Given the description of an element on the screen output the (x, y) to click on. 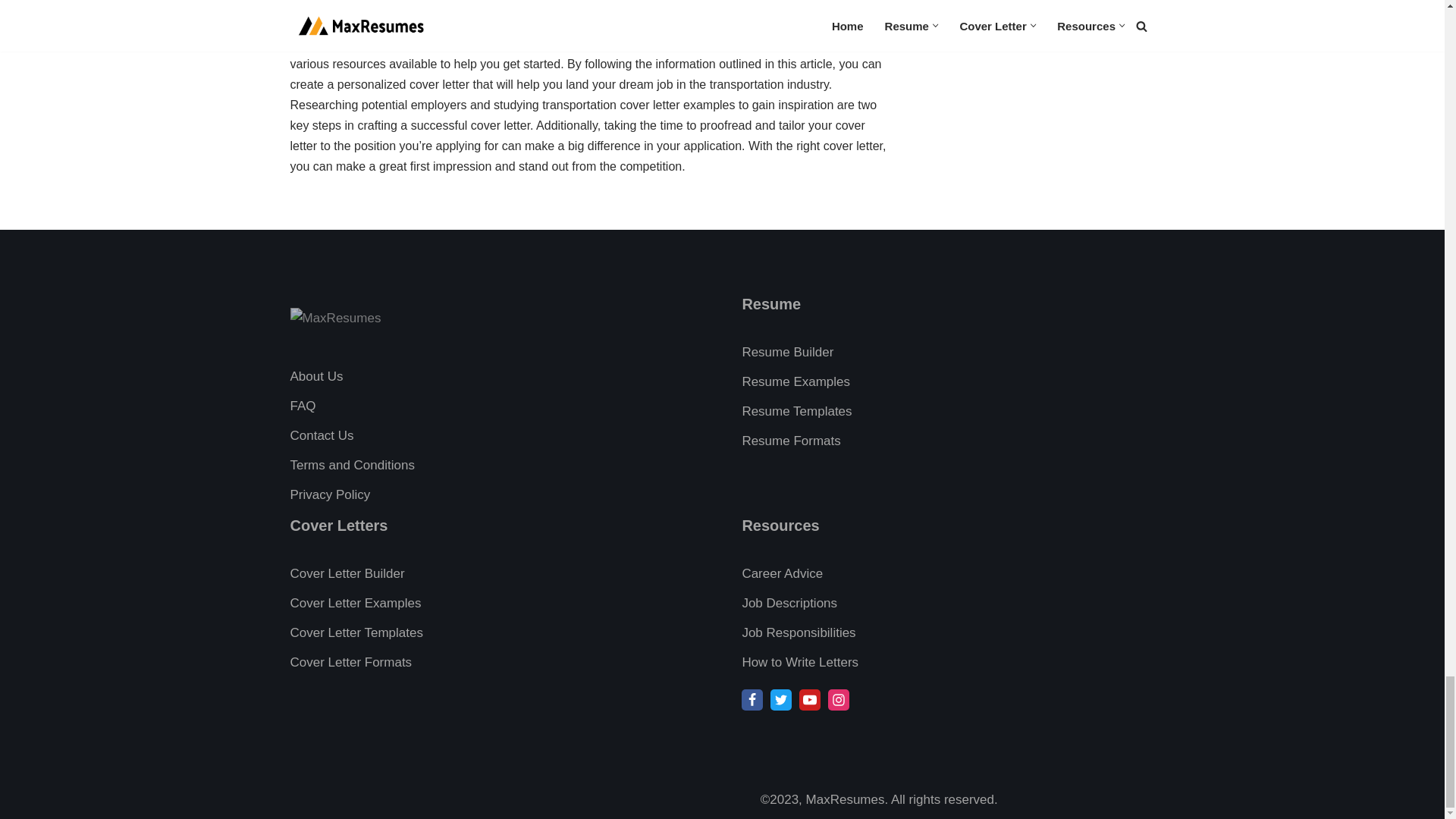
Facebook (751, 699)
Youtube (810, 699)
Instagram (838, 699)
Twitter (781, 699)
